Given the description of an element on the screen output the (x, y) to click on. 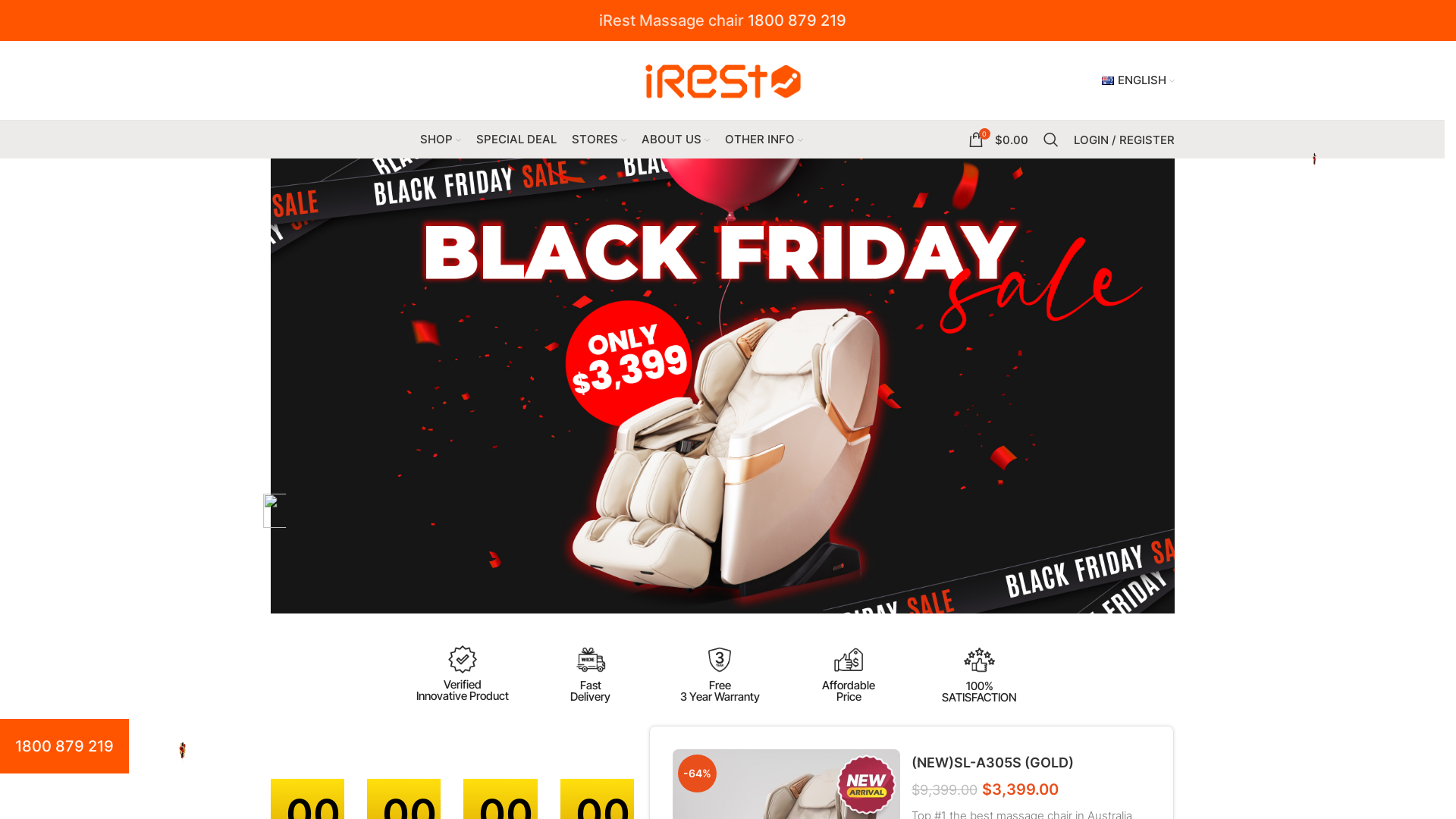
1800 879 219 Element type: text (796, 20)
SHOP Element type: text (440, 139)
SPECIAL DEAL Element type: text (516, 139)
STORES Element type: text (598, 139)
Search Element type: hover (1050, 139)
(NEW)SL-A305S (GOLD) Element type: text (992, 762)
ABOUT US Element type: text (675, 139)
ENGLISH Element type: text (1137, 80)
0
$0.00 Element type: text (997, 139)
Log in Element type: text (1049, 376)
OTHER INFO Element type: text (763, 139)
LOGIN / REGISTER Element type: text (1124, 139)
